Given the description of an element on the screen output the (x, y) to click on. 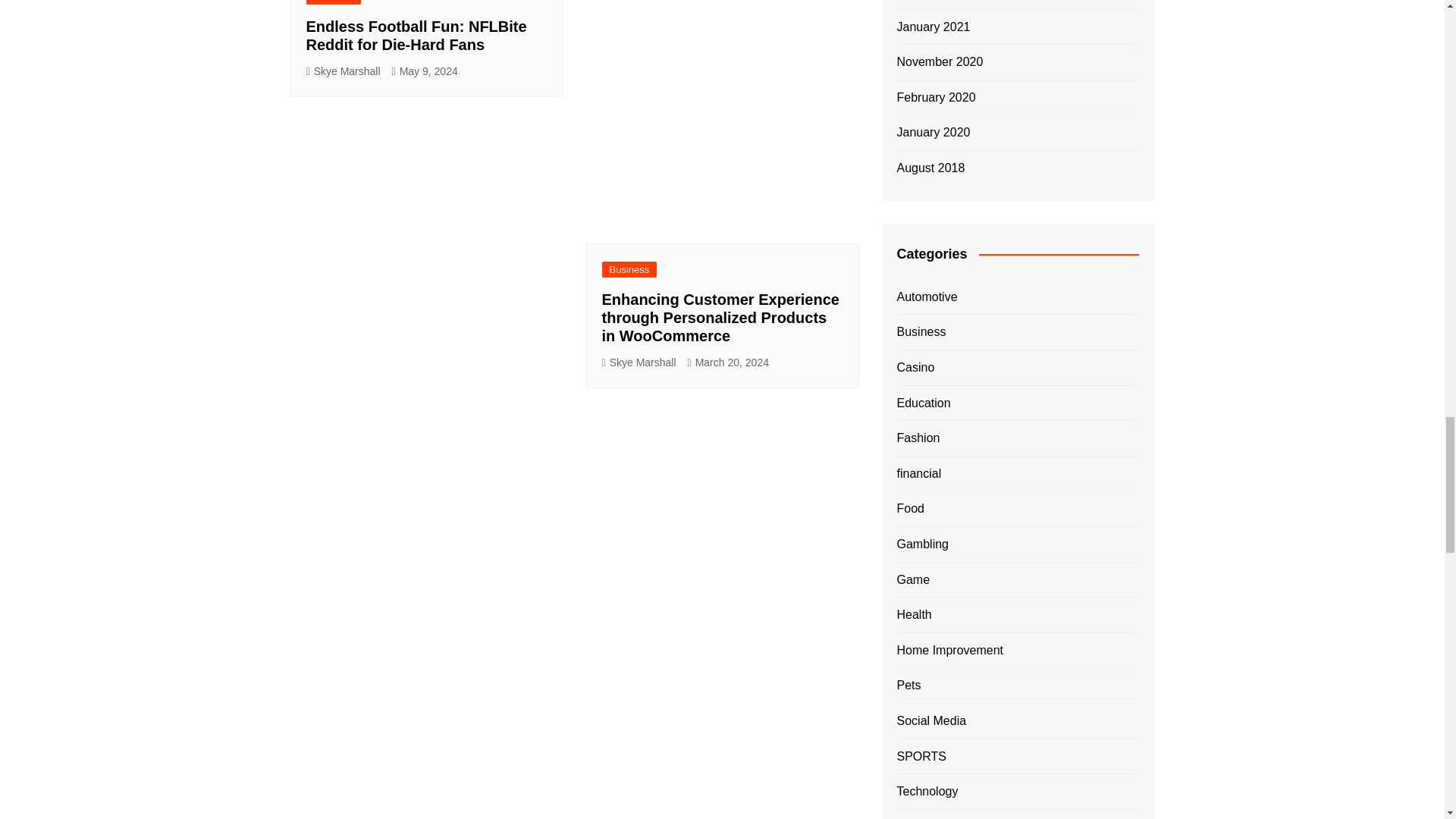
Endless Football Fun: NFLBite Reddit for Die-Hard Fans (416, 35)
Business (333, 2)
Skye Marshall (342, 71)
May 9, 2024 (424, 71)
